Given the description of an element on the screen output the (x, y) to click on. 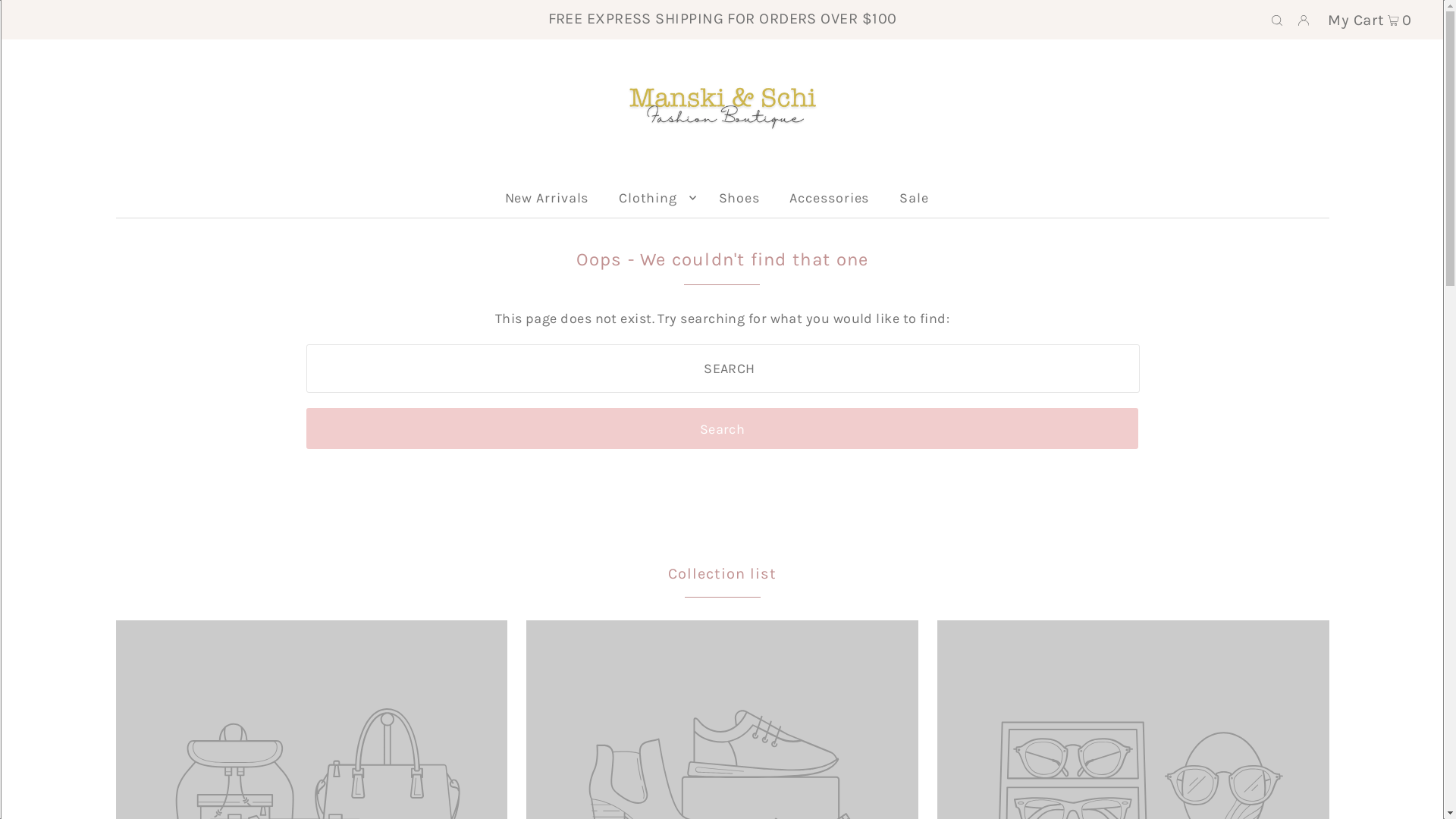
Accessories Element type: text (828, 197)
New Arrivals Element type: text (546, 197)
Sale Element type: text (913, 197)
Shoes Element type: text (739, 197)
Search Element type: text (722, 427)
Clothing Element type: text (653, 197)
